Given the description of an element on the screen output the (x, y) to click on. 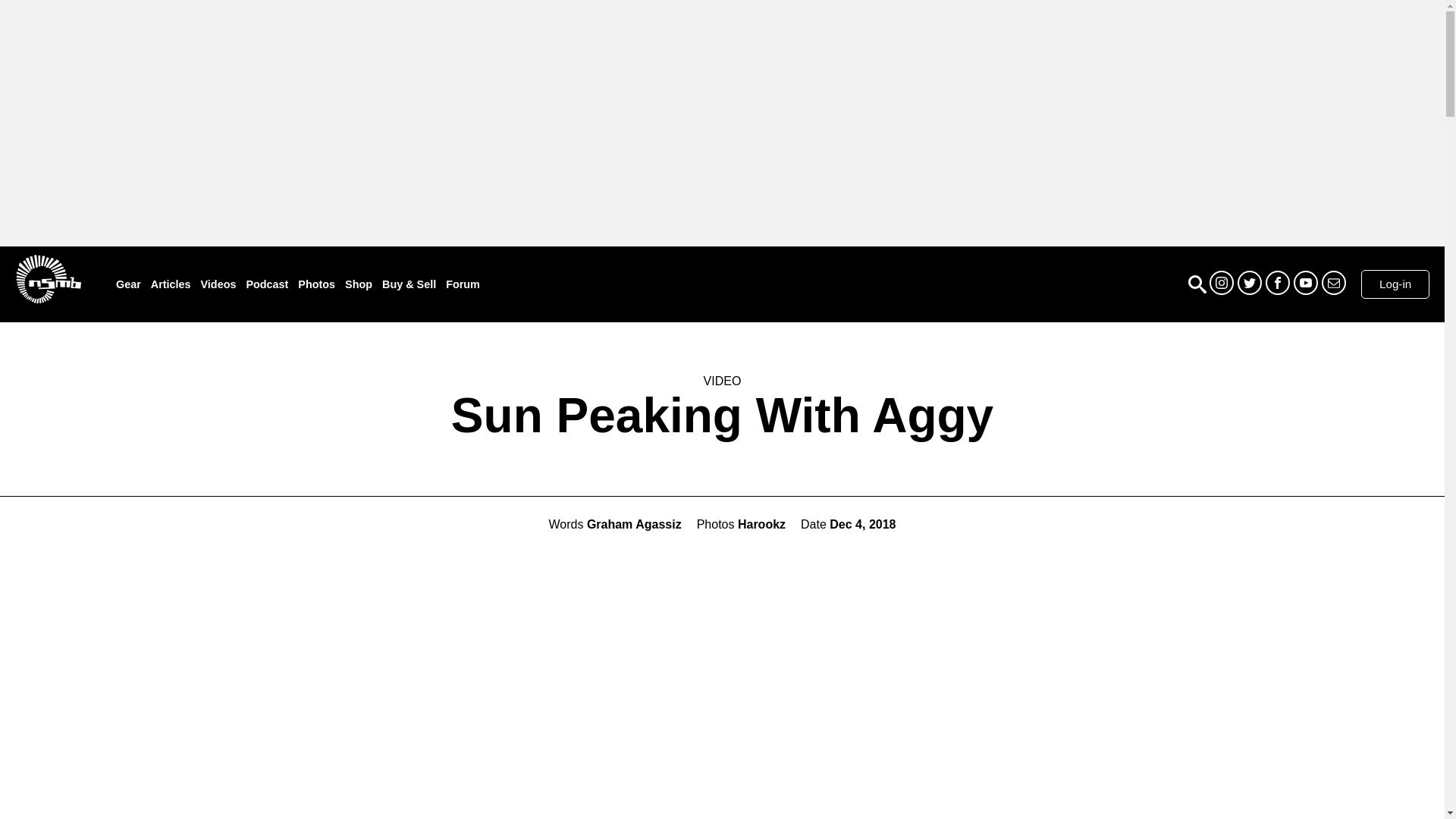
Instagram (1221, 282)
Gear (128, 284)
Search Toggle (1197, 283)
Twitter (1249, 282)
Log-in (1395, 284)
NSMB Home (47, 278)
Youtube (1305, 282)
Subscribe (1333, 282)
Facebook (1277, 282)
